Given the description of an element on the screen output the (x, y) to click on. 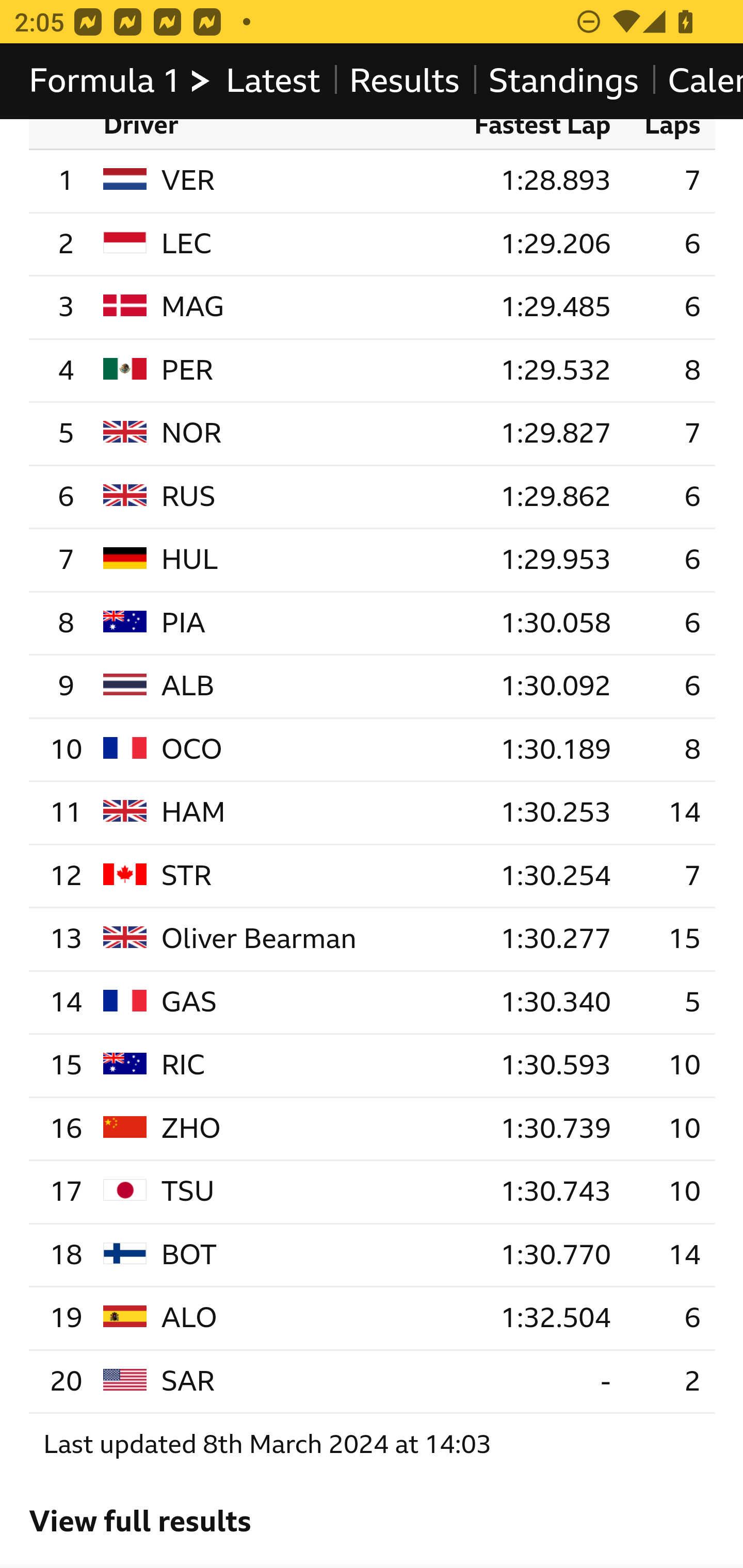
View full results (140, 1523)
